Given the description of an element on the screen output the (x, y) to click on. 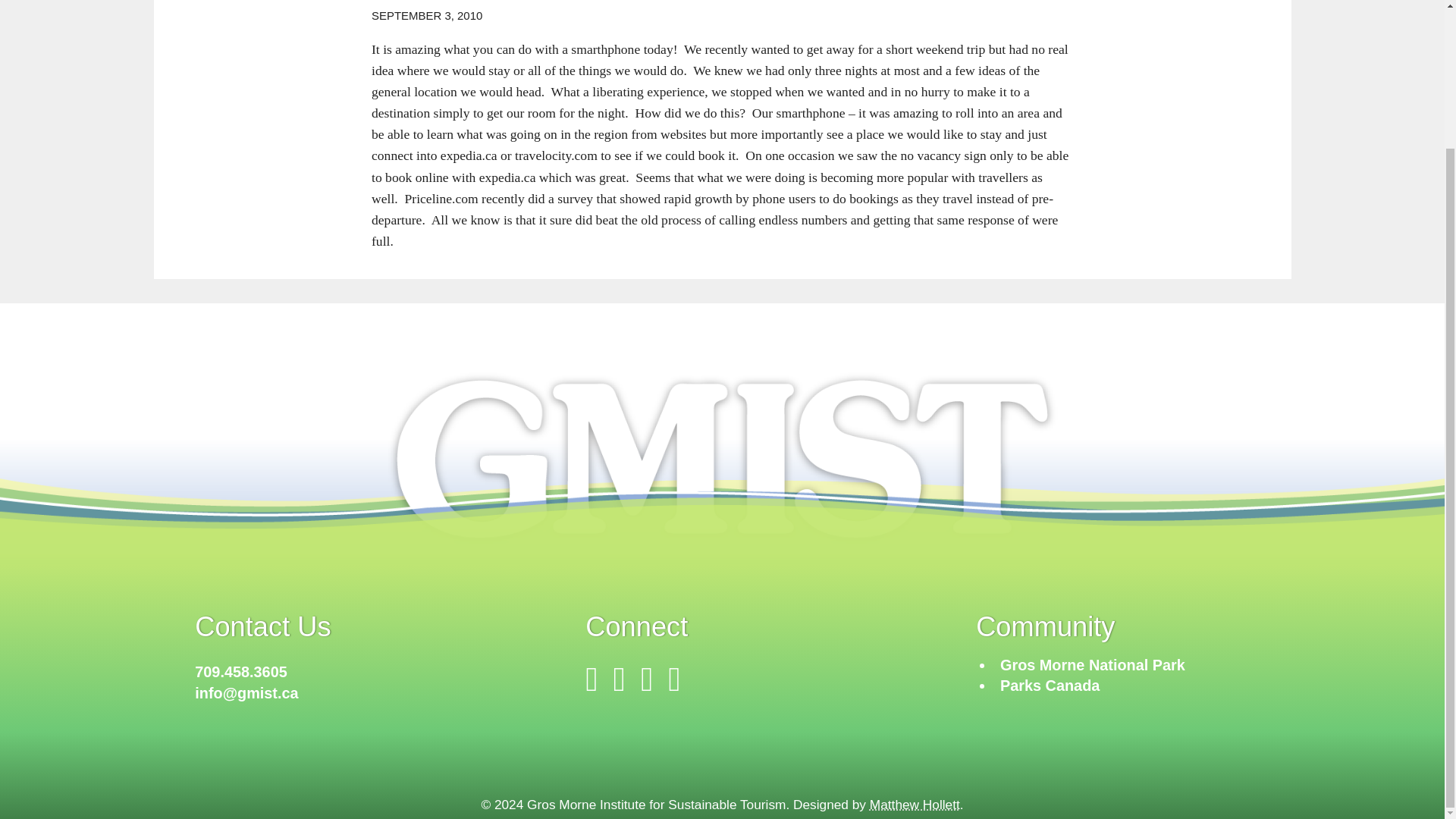
Gros Morne National Park (1092, 664)
Matthew Hollett (914, 804)
Parks Canada (1049, 685)
